Given the description of an element on the screen output the (x, y) to click on. 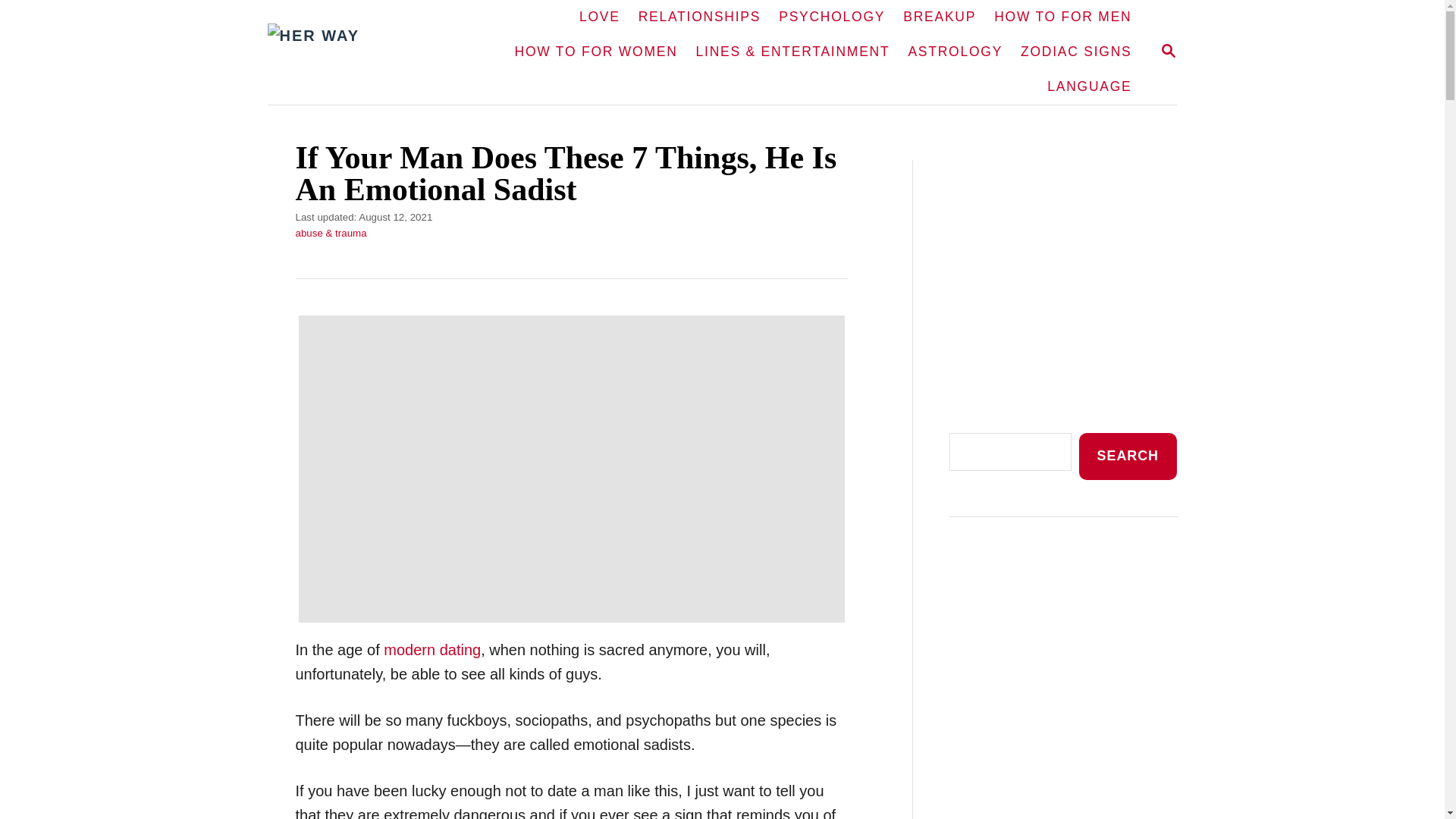
LOVE (599, 17)
BREAKUP (939, 17)
RELATIONSHIPS (699, 17)
HOW TO FOR WOMEN (596, 52)
Her Way (355, 51)
HOW TO FOR MEN (1167, 51)
MAGNIFYING GLASS (1062, 17)
PSYCHOLOGY (1167, 50)
